Given the description of an element on the screen output the (x, y) to click on. 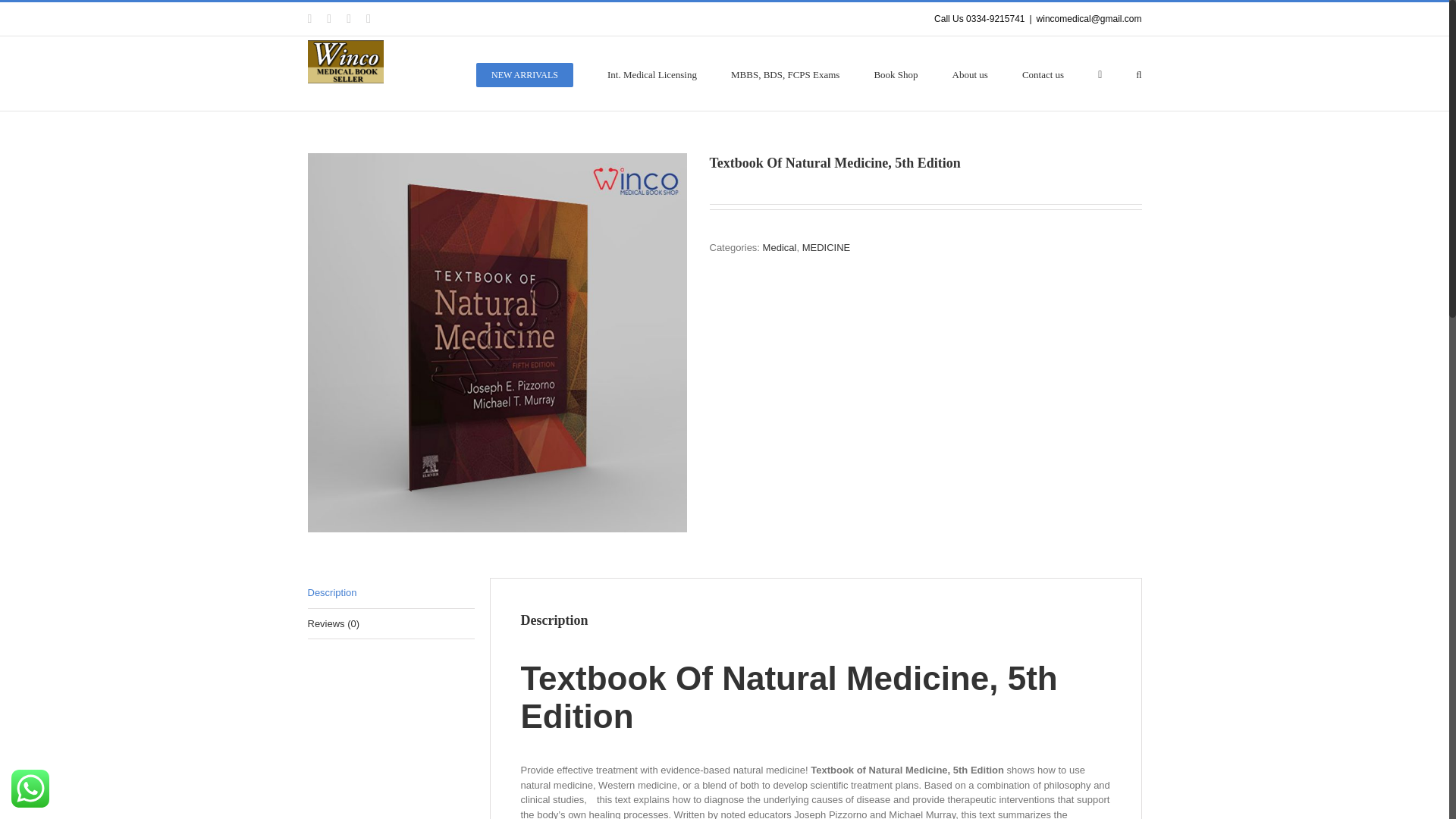
Int. Medical Licensing (652, 73)
MBBS, BDS, FCPS Exams (785, 73)
NEW ARRIVALS (524, 73)
